Given the description of an element on the screen output the (x, y) to click on. 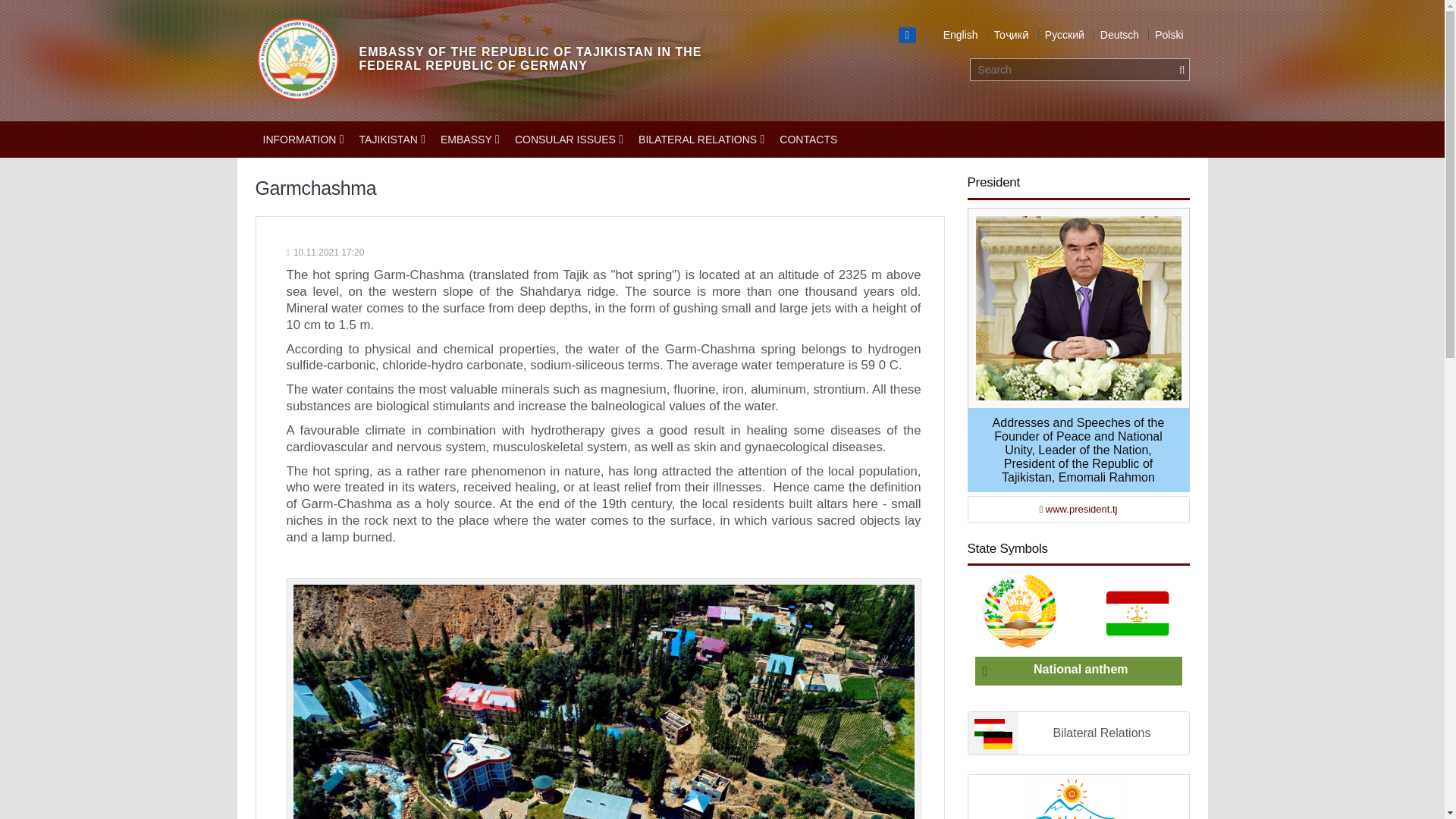
Polski (1167, 34)
Polski (1167, 34)
English (959, 34)
CONSULAR ISSUES (568, 139)
TAJIKISTAN (392, 139)
INFORMATION (302, 139)
Deutsch (1117, 34)
Tajikistan (392, 139)
EMBASSY (469, 139)
English (959, 34)
Information (302, 139)
Deutsch (1117, 34)
